Given the description of an element on the screen output the (x, y) to click on. 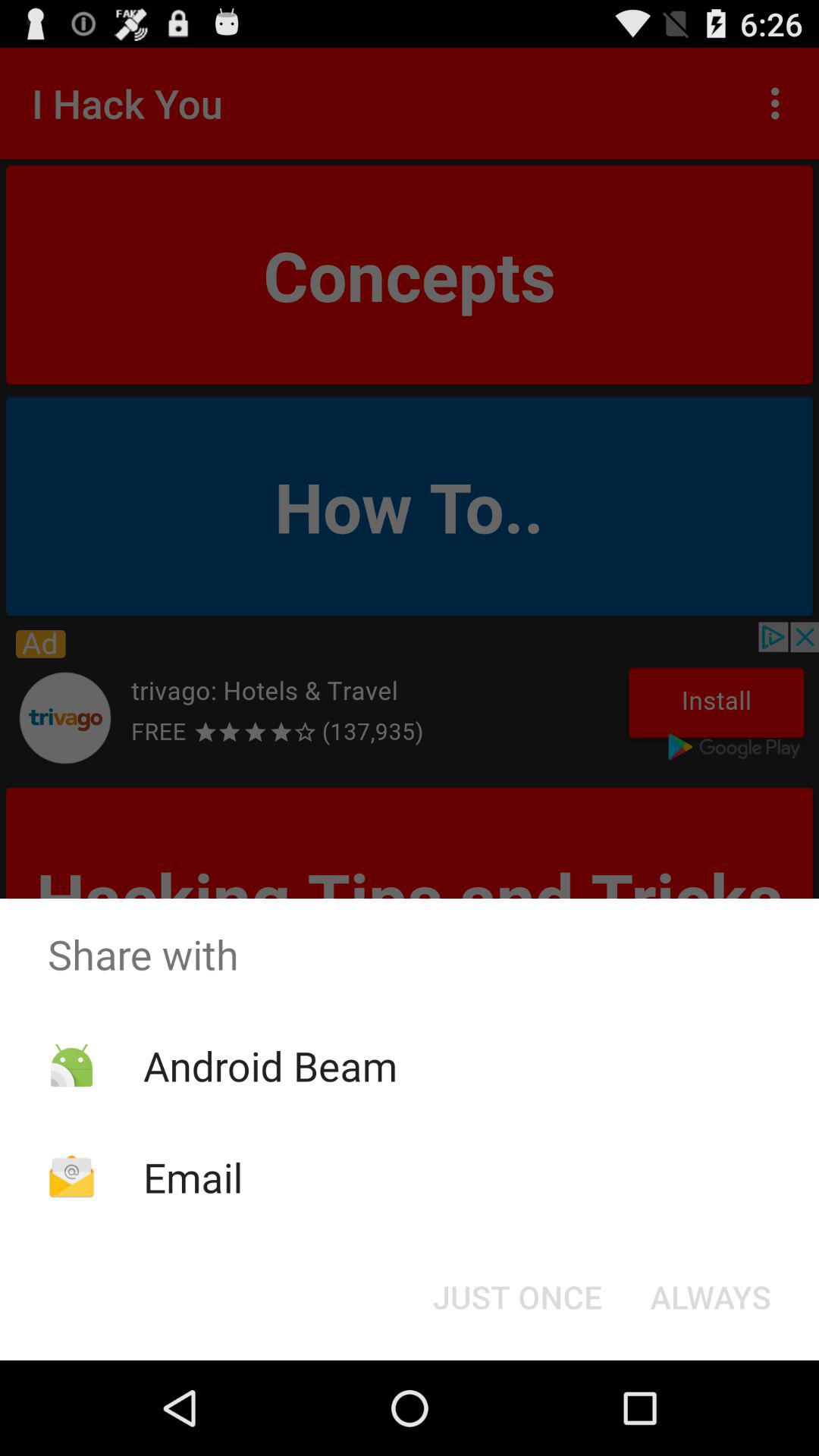
turn off the icon below the share with app (710, 1296)
